Given the description of an element on the screen output the (x, y) to click on. 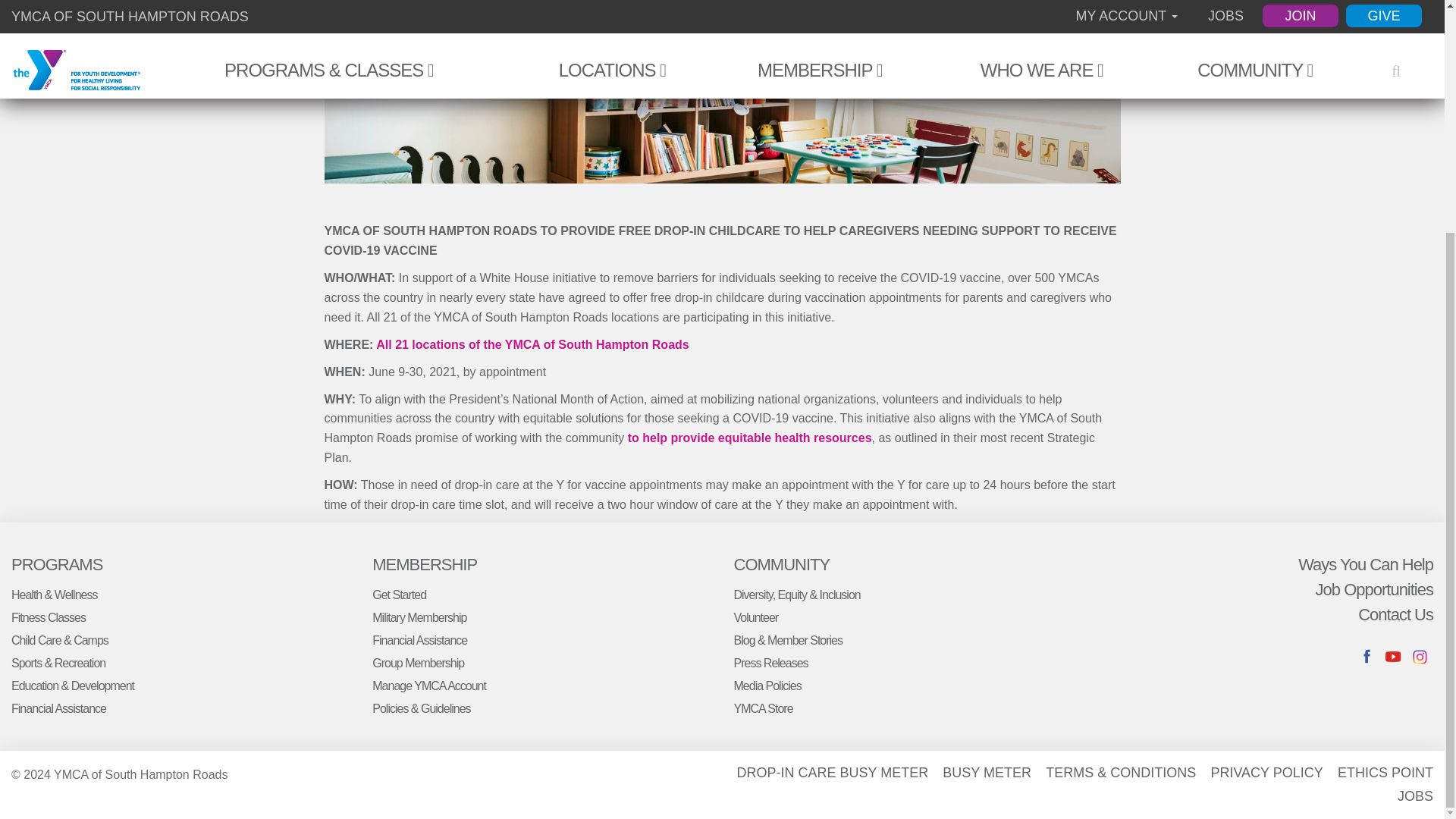
Youtube (1393, 656)
Facebook (1365, 656)
Instagram (1419, 656)
